Given the description of an element on the screen output the (x, y) to click on. 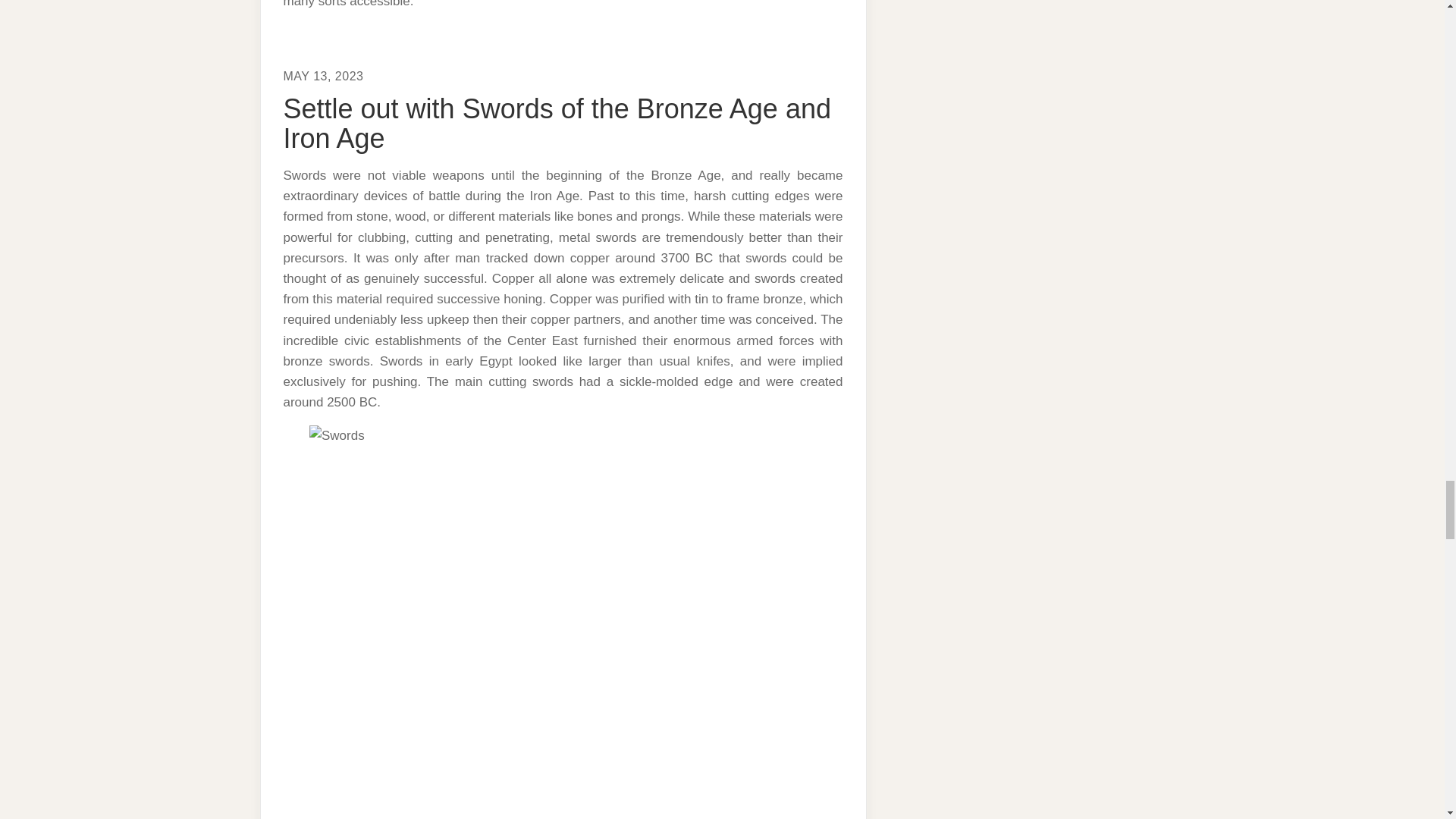
MAY 13, 2023 (323, 75)
Settle out with Swords of the Bronze Age and Iron Age (557, 123)
